Given the description of an element on the screen output the (x, y) to click on. 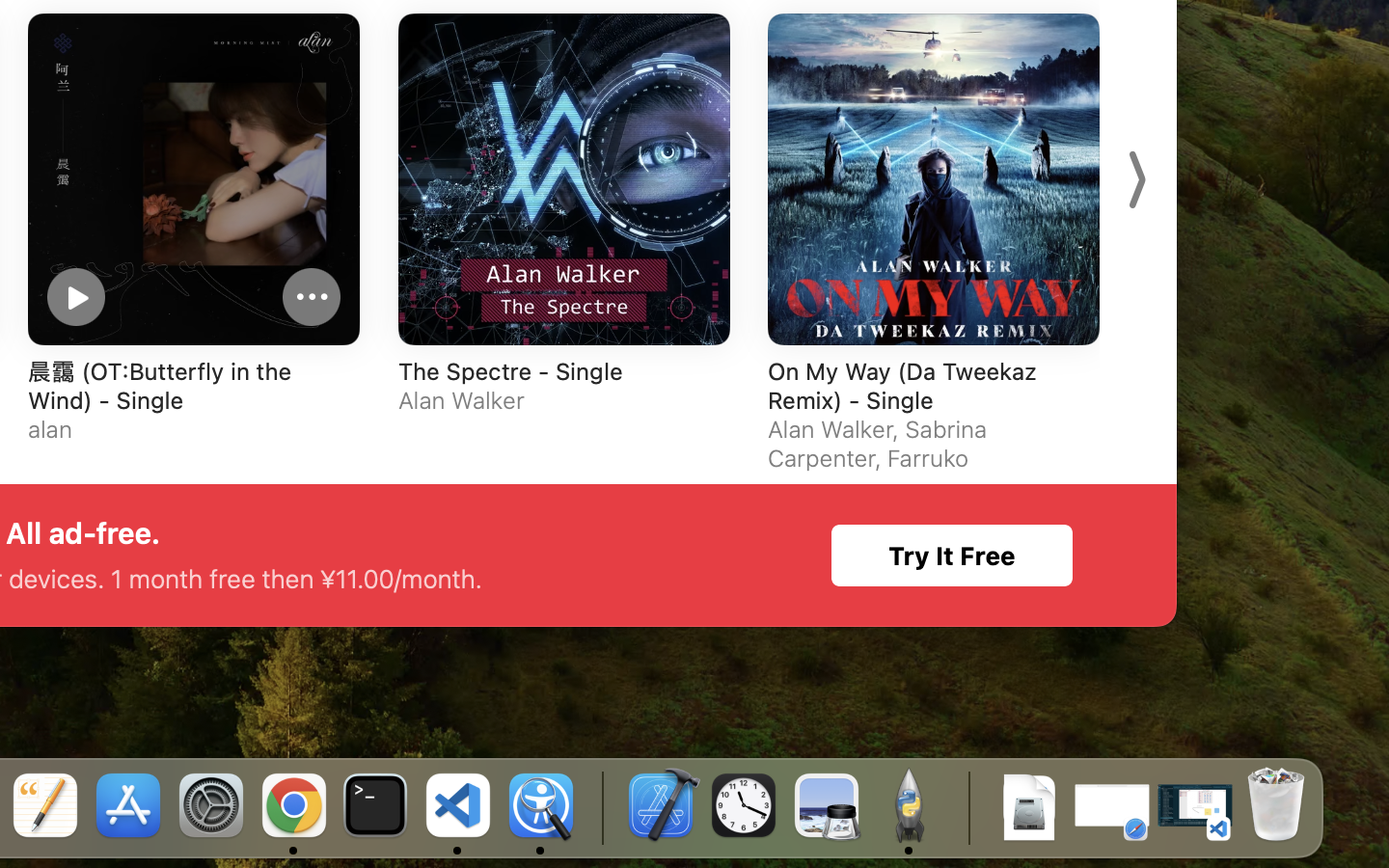
一念執著 Element type: AXStaticText (690, 630)
All Falls Down Element type: AXStaticText (102, 630)
